Given the description of an element on the screen output the (x, y) to click on. 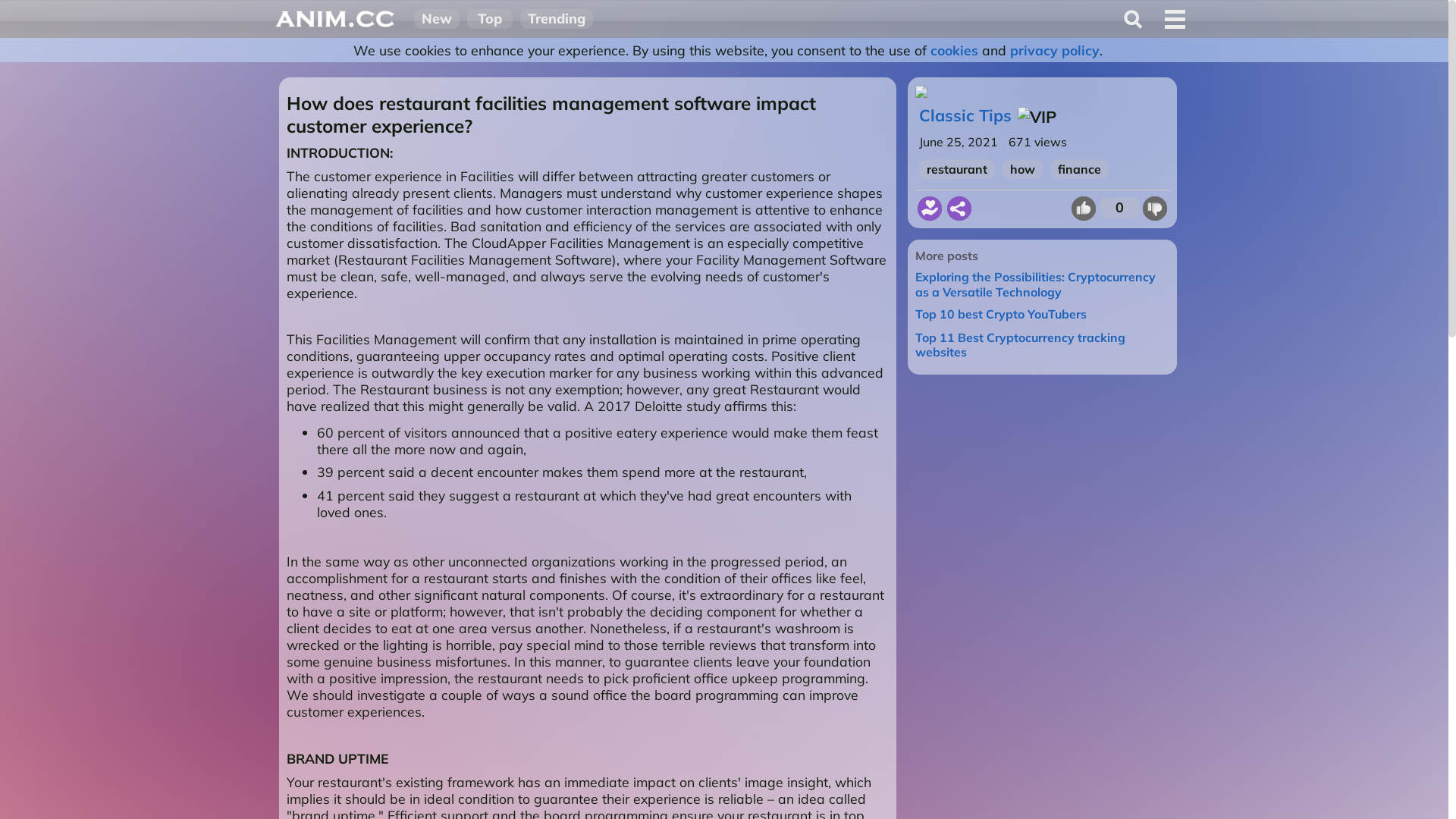
Top 11 Best Cryptocurrency tracking websites Element type: text (1020, 344)
finance Element type: text (1079, 168)
Top Element type: text (489, 18)
Top 10 best Crypto YouTubers Element type: text (1000, 313)
privacy policy Element type: text (1054, 49)
restaurant Element type: text (956, 168)
VIP Element type: hover (1036, 116)
cookies Element type: text (954, 49)
Trending Element type: text (556, 18)
Advertisement Element type: hover (1041, 497)
New Element type: text (436, 18)
how Element type: text (1022, 168)
Classic Tips Element type: text (965, 115)
